Given the description of an element on the screen output the (x, y) to click on. 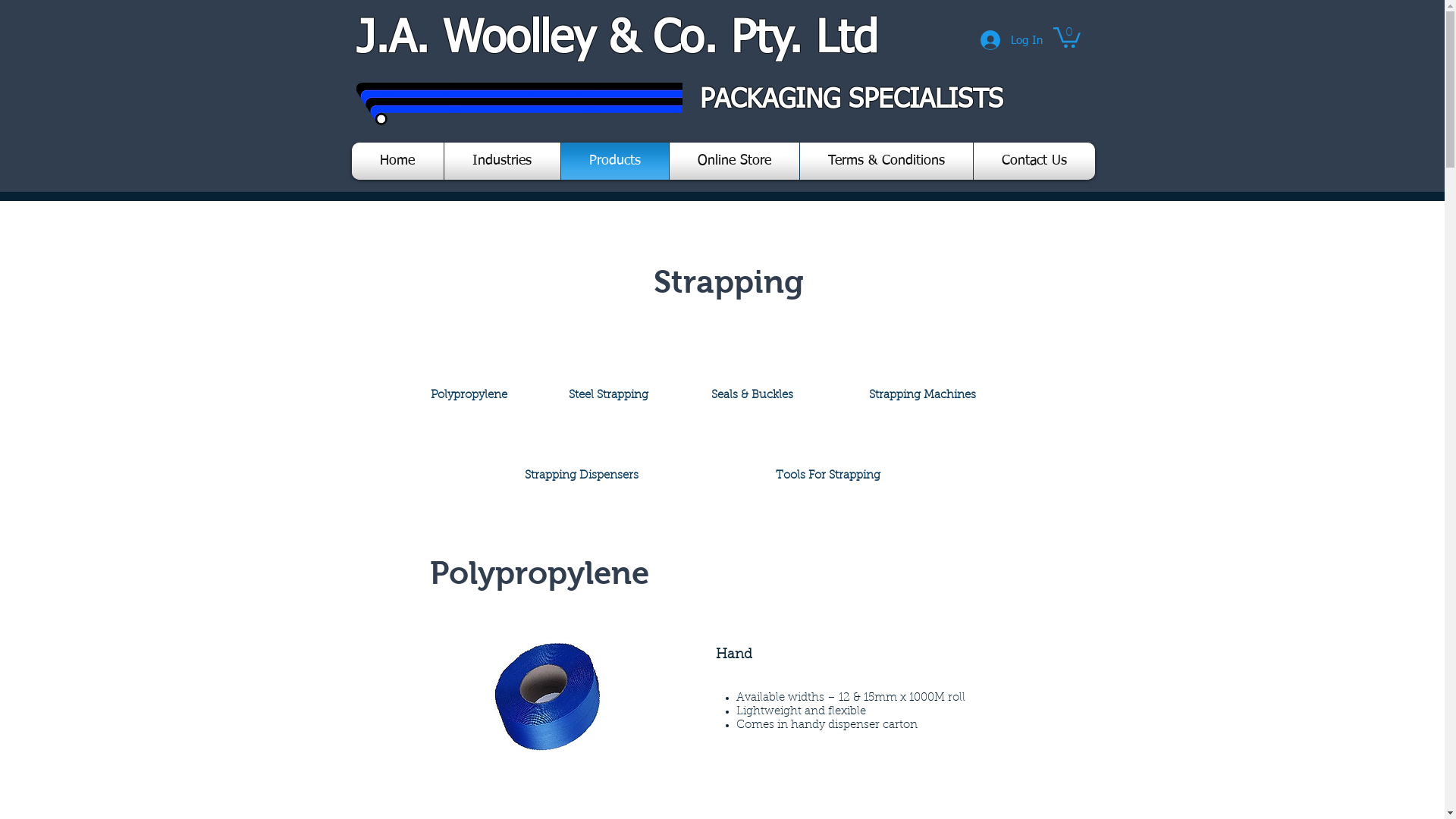
Industries Element type: text (501, 160)
Products Element type: text (614, 160)
Terms & Conditions Element type: text (886, 160)
Strapping Dispensers Element type: text (581, 475)
Tools For Strapping Element type: text (827, 475)
Strapping Machines Element type: text (922, 394)
0 Element type: text (1065, 36)
Home Element type: text (396, 160)
Seals & Buckles Element type: text (751, 394)
Polypropylene Element type: text (468, 394)
Online Store Element type: text (734, 160)
Steel Strapping Element type: text (608, 394)
Contact Us Element type: text (1033, 160)
Log In Element type: text (1010, 39)
